Given the description of an element on the screen output the (x, y) to click on. 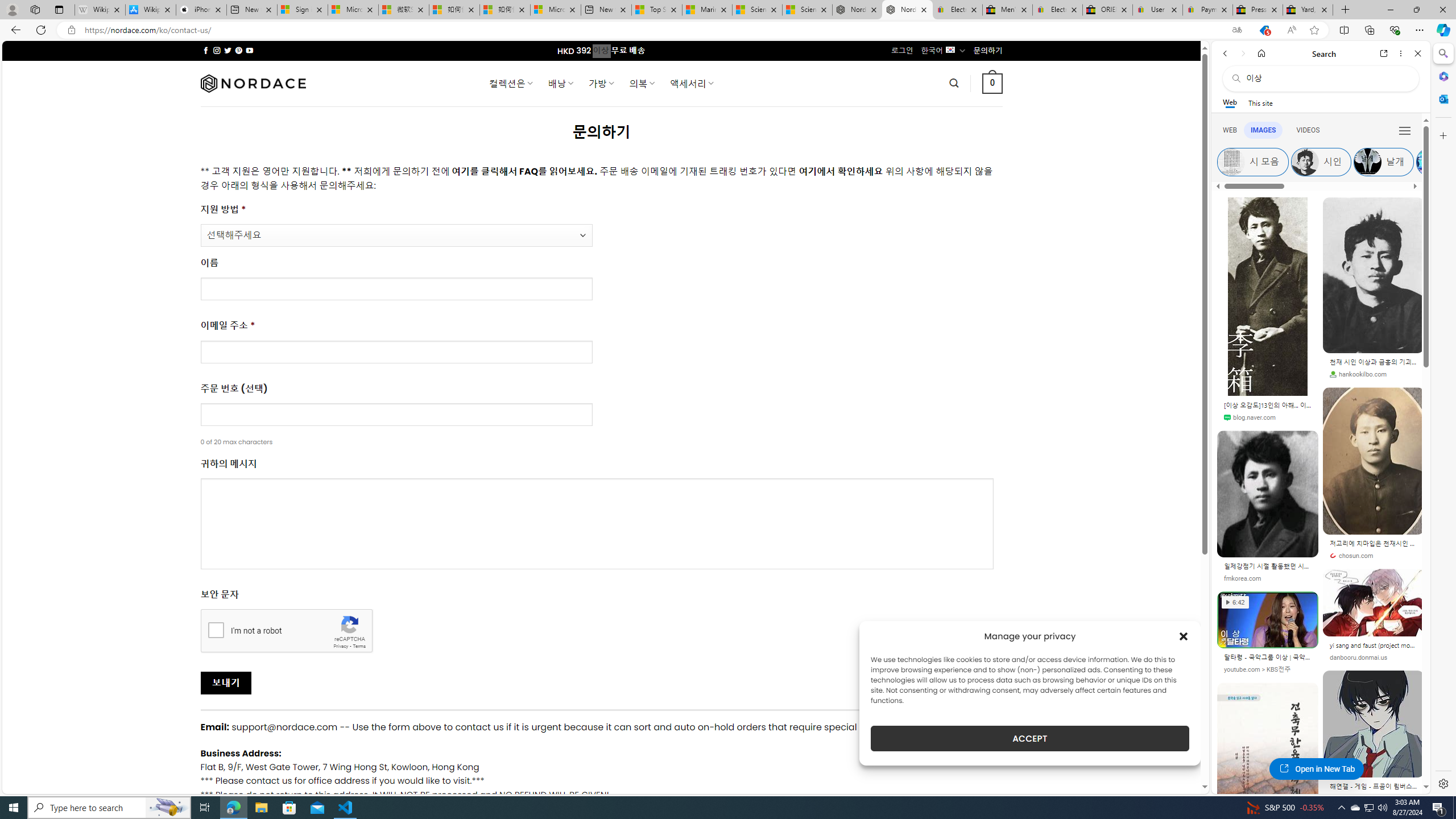
hankookilbo.com (1372, 374)
Terms (359, 646)
blog.naver.com (1249, 417)
